Given the description of an element on the screen output the (x, y) to click on. 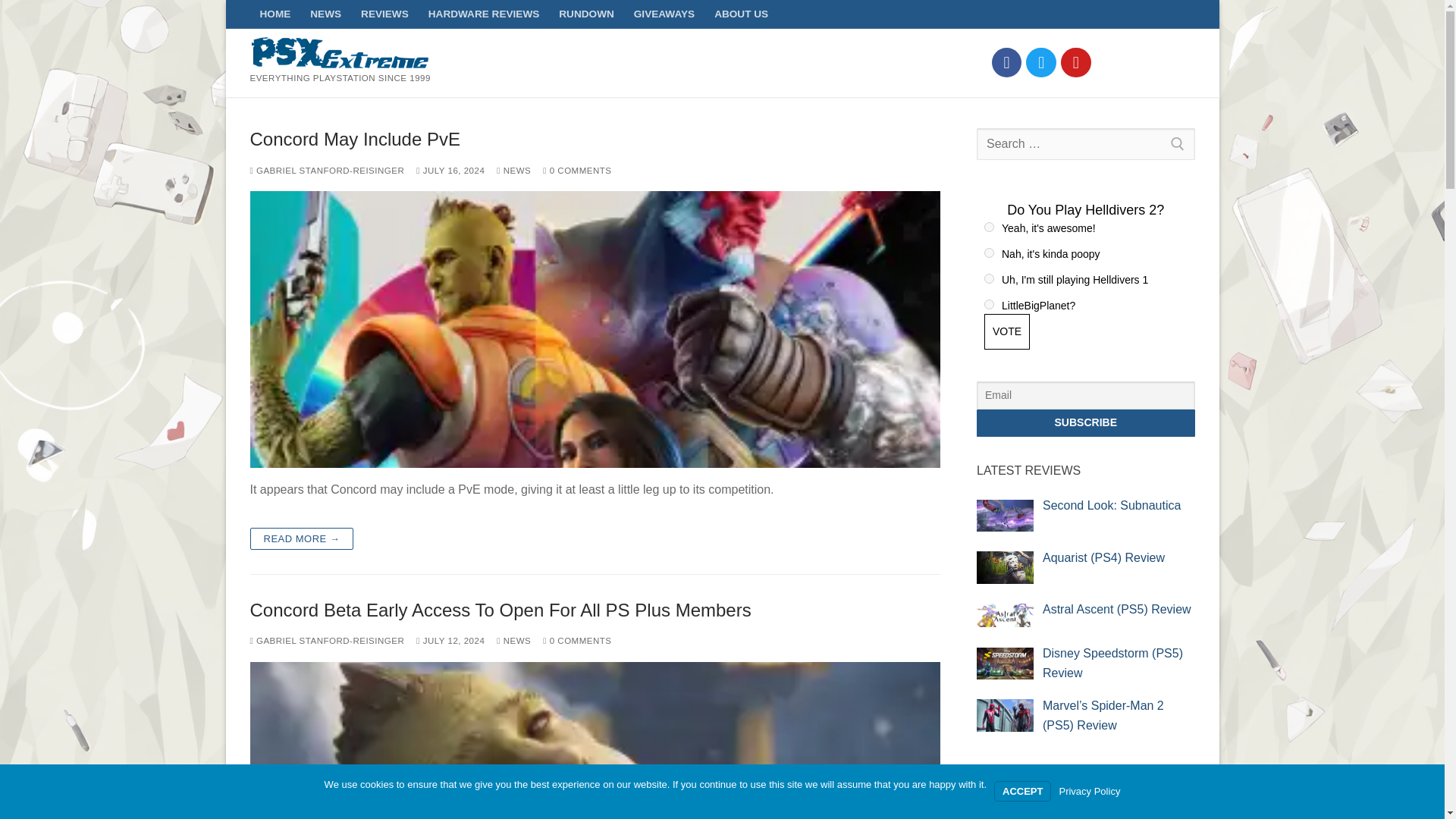
0 COMMENTS (577, 170)
15 (989, 252)
GABRIEL STANFORD-REISINGER (327, 170)
NEWS (324, 14)
NEWS (513, 640)
18 (989, 304)
16 (989, 278)
Concord May Include PvE (595, 138)
Twitter (1040, 62)
Subscribe (1085, 422)
Concord Beta Early Access To Open For All PS Plus Members (595, 609)
14 (989, 226)
HOME (275, 14)
Youtube (1075, 62)
